Given the description of an element on the screen output the (x, y) to click on. 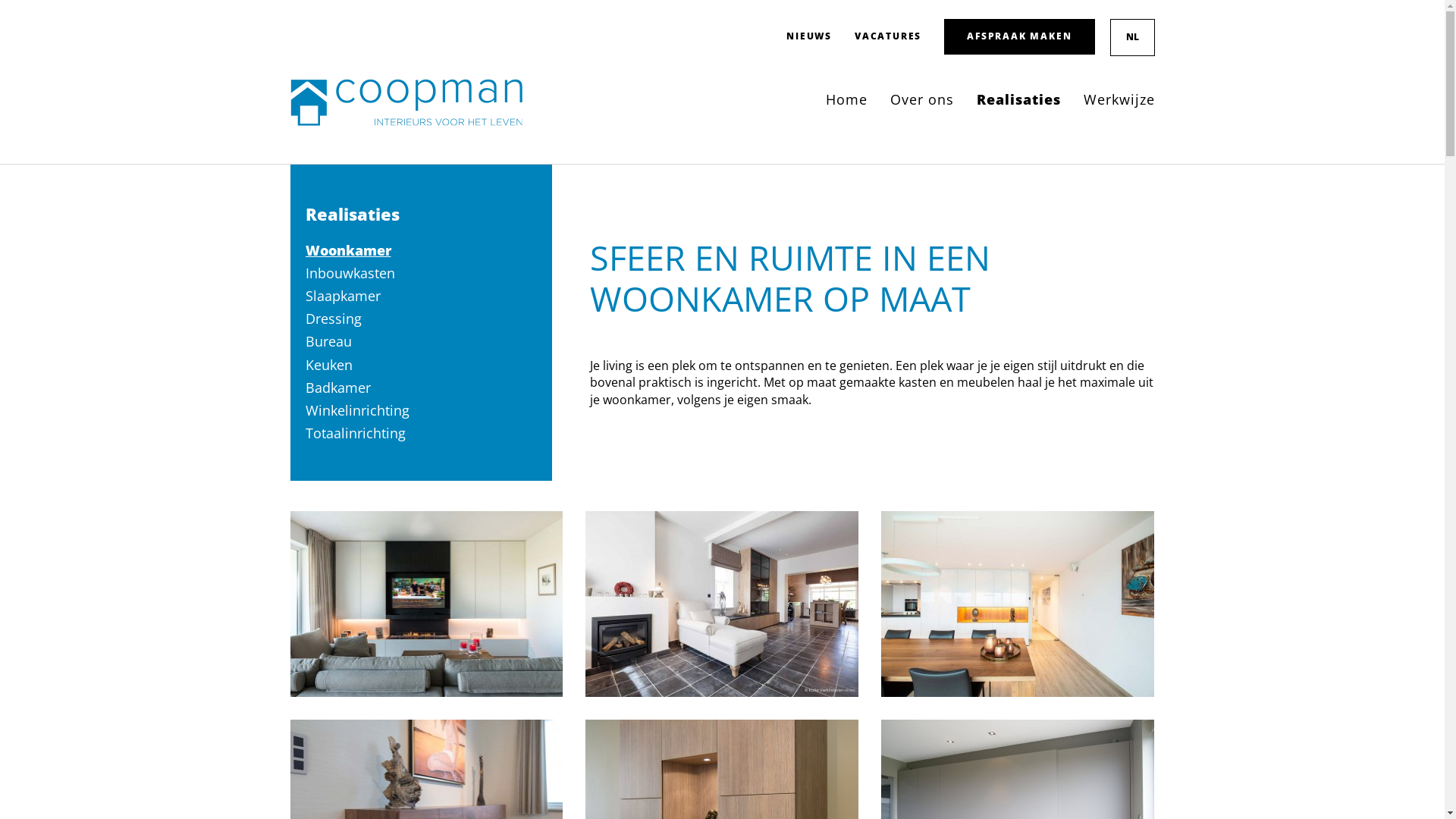
Inbouwkasten Element type: text (349, 272)
Keuken Element type: text (327, 364)
Woonkamer Element type: text (347, 250)
NL Element type: text (1131, 37)
Bureau Element type: text (327, 341)
NIEUWS Element type: text (808, 36)
Home Element type: text (845, 99)
Realisaties Element type: text (1018, 99)
Winkelinrichting Element type: text (356, 410)
VACATURES Element type: text (887, 36)
Totaalinrichting Element type: text (354, 432)
Werkwijze Element type: text (1118, 99)
AFSPRAAK MAKEN Element type: text (1019, 36)
Slaapkamer Element type: text (341, 295)
Dressing Element type: text (332, 318)
Badkamer Element type: text (337, 387)
Over ons Element type: text (921, 99)
